Given the description of an element on the screen output the (x, y) to click on. 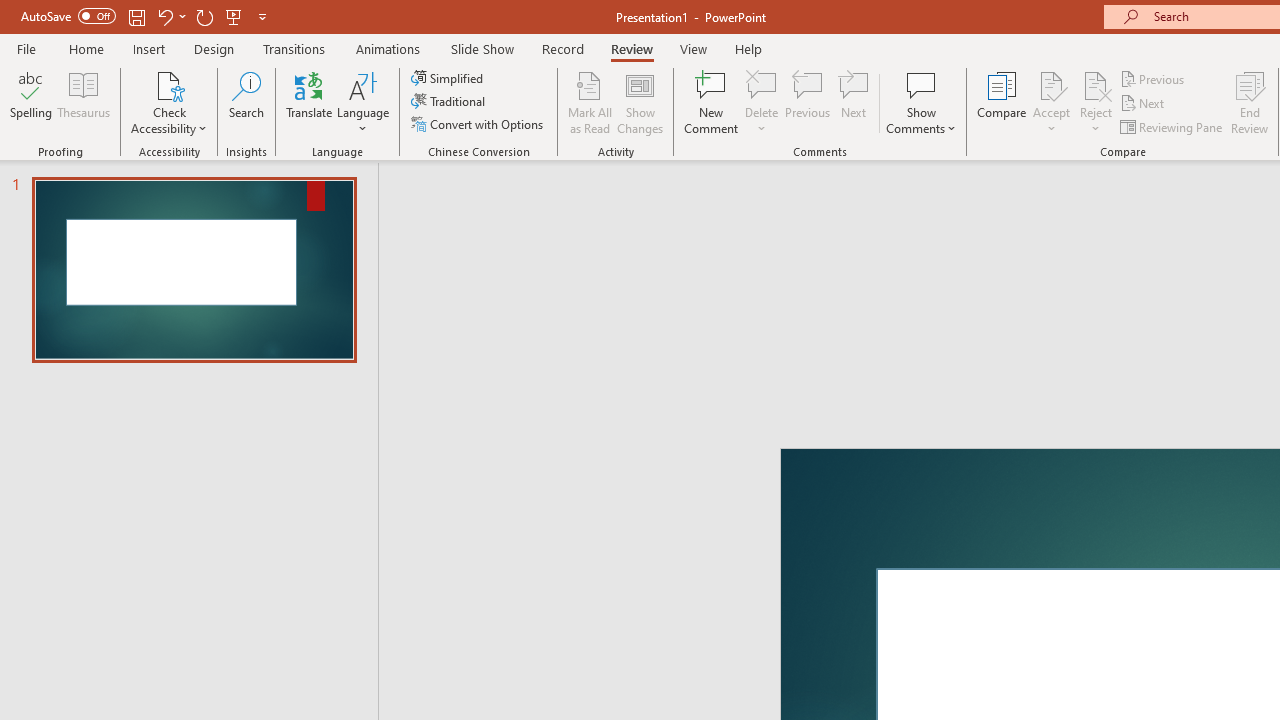
Compare (1002, 102)
Accept Change (1051, 84)
Thesaurus... (83, 102)
Reviewing Pane (1172, 126)
Accept (1051, 102)
Translate (309, 102)
